Given the description of an element on the screen output the (x, y) to click on. 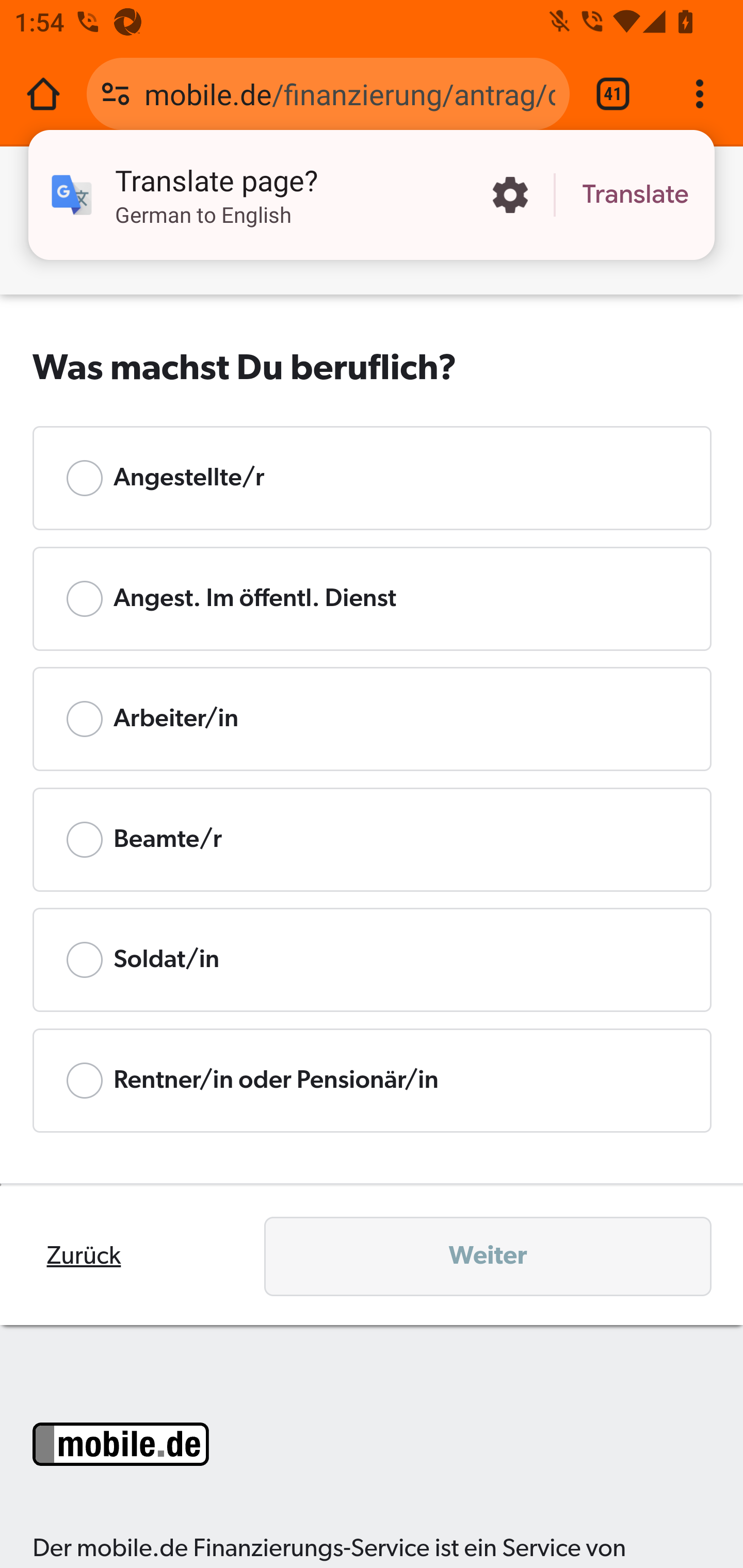
Open the home page (43, 93)
Connection is secure (115, 93)
Switch or close tabs (612, 93)
Customize and control Google Chrome (699, 93)
Translate (634, 195)
More options in the Translate page? (509, 195)
Weiter (488, 1256)
Zurück (83, 1256)
